Given the description of an element on the screen output the (x, y) to click on. 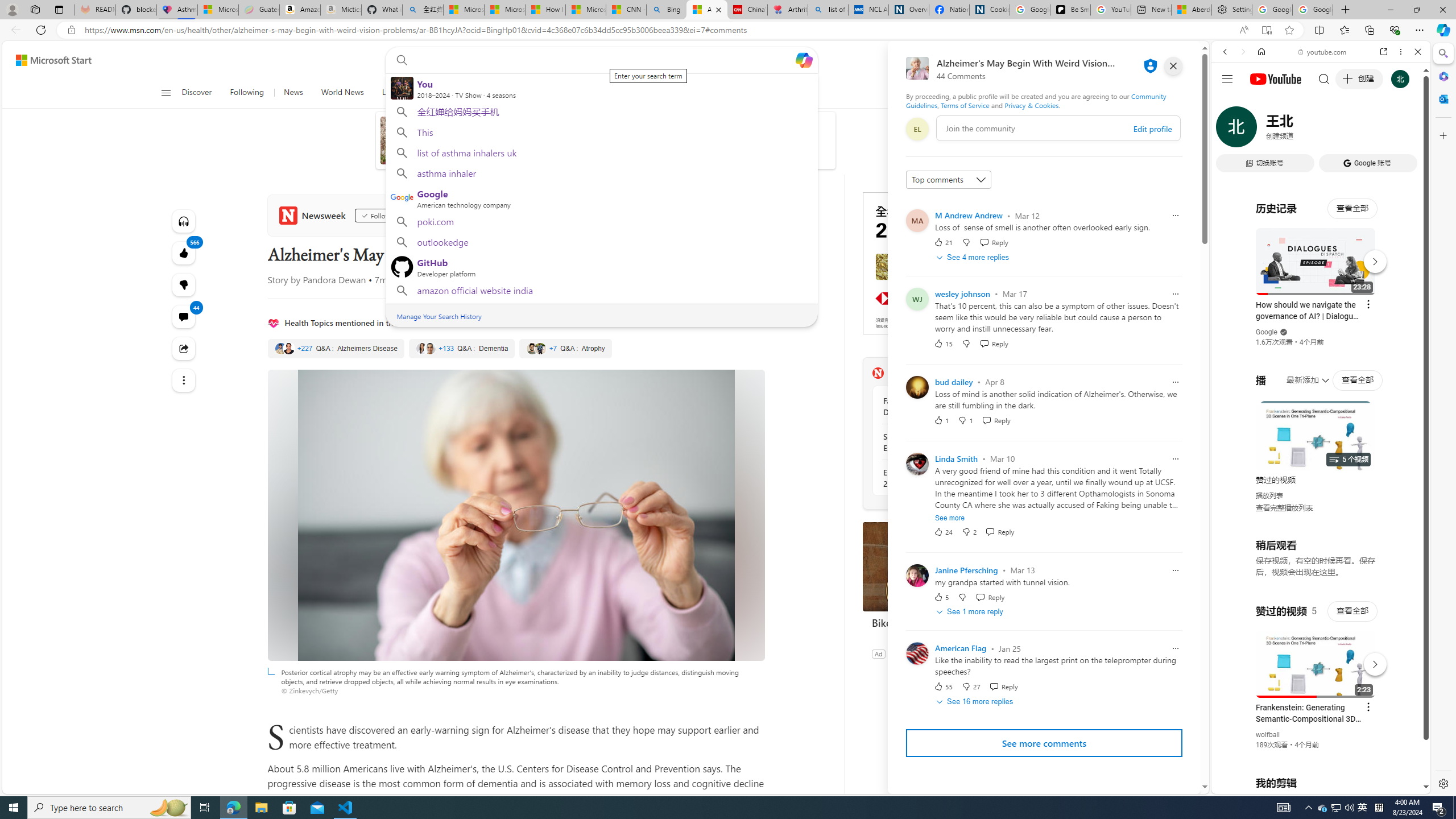
World News (342, 92)
Enter your search term (603, 59)
NCL Adult Asthma Inhaler Choice Guideline (868, 9)
Cookies (988, 9)
WEB   (1230, 130)
